Given the description of an element on the screen output the (x, y) to click on. 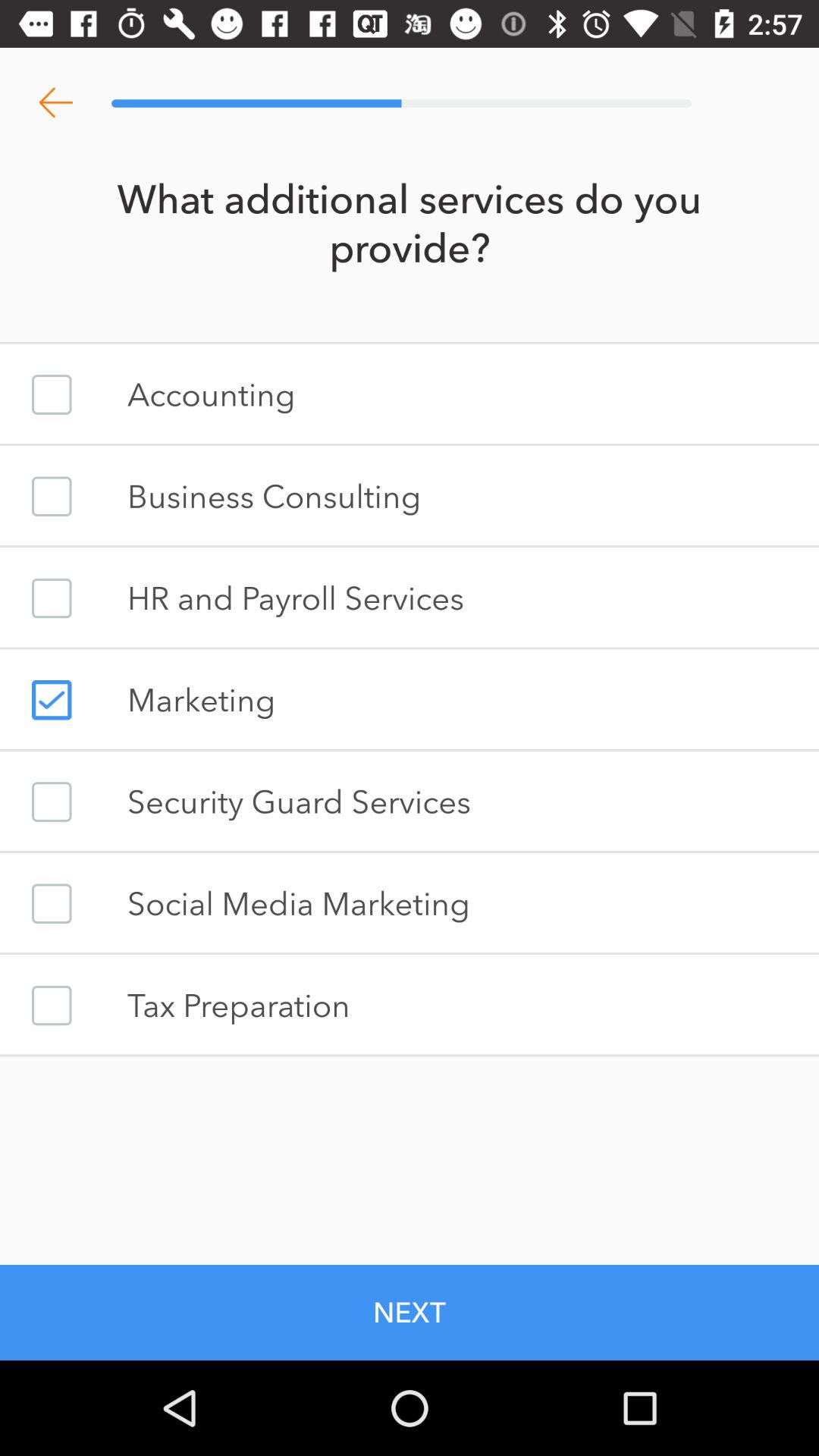
go back (55, 103)
